Given the description of an element on the screen output the (x, y) to click on. 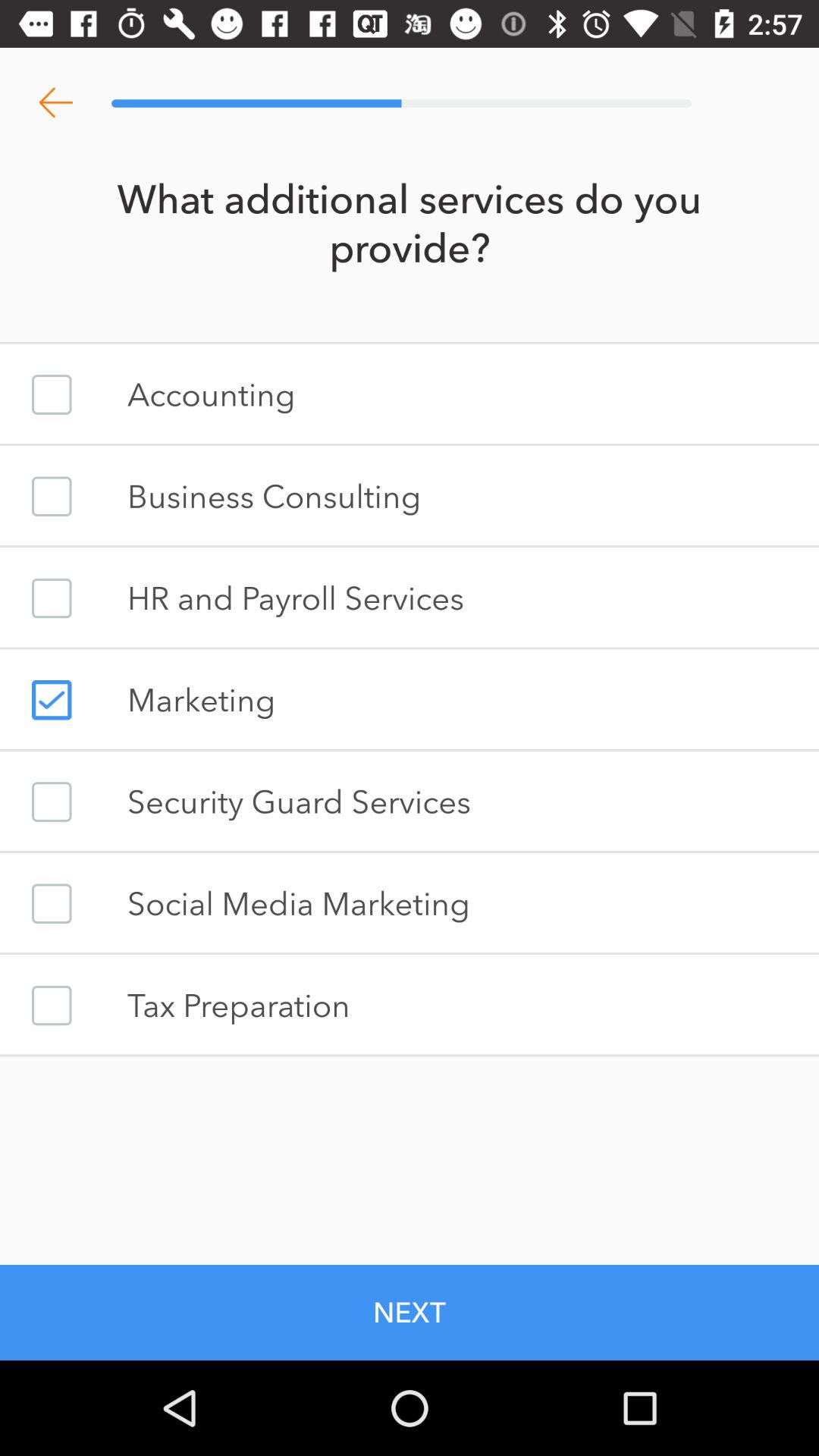
go back (55, 103)
